Given the description of an element on the screen output the (x, y) to click on. 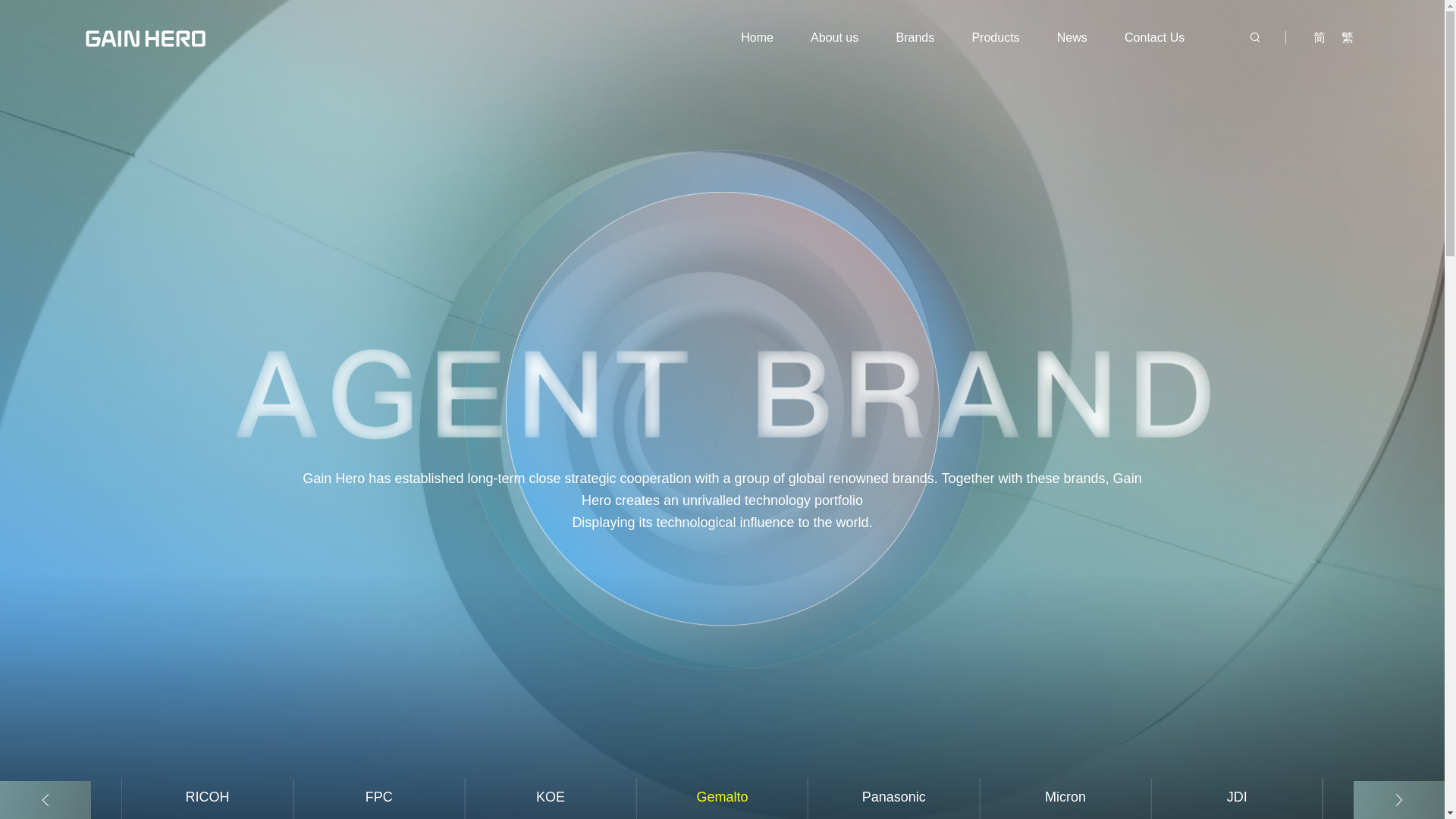
Gemalto (722, 798)
Panasonic (893, 798)
Brands (915, 38)
JDI (1236, 798)
Micron (1064, 798)
About us (833, 38)
FPC (378, 798)
Contact Us (1154, 38)
KOE (549, 798)
Products (994, 38)
RICOH (206, 798)
